Given the description of an element on the screen output the (x, y) to click on. 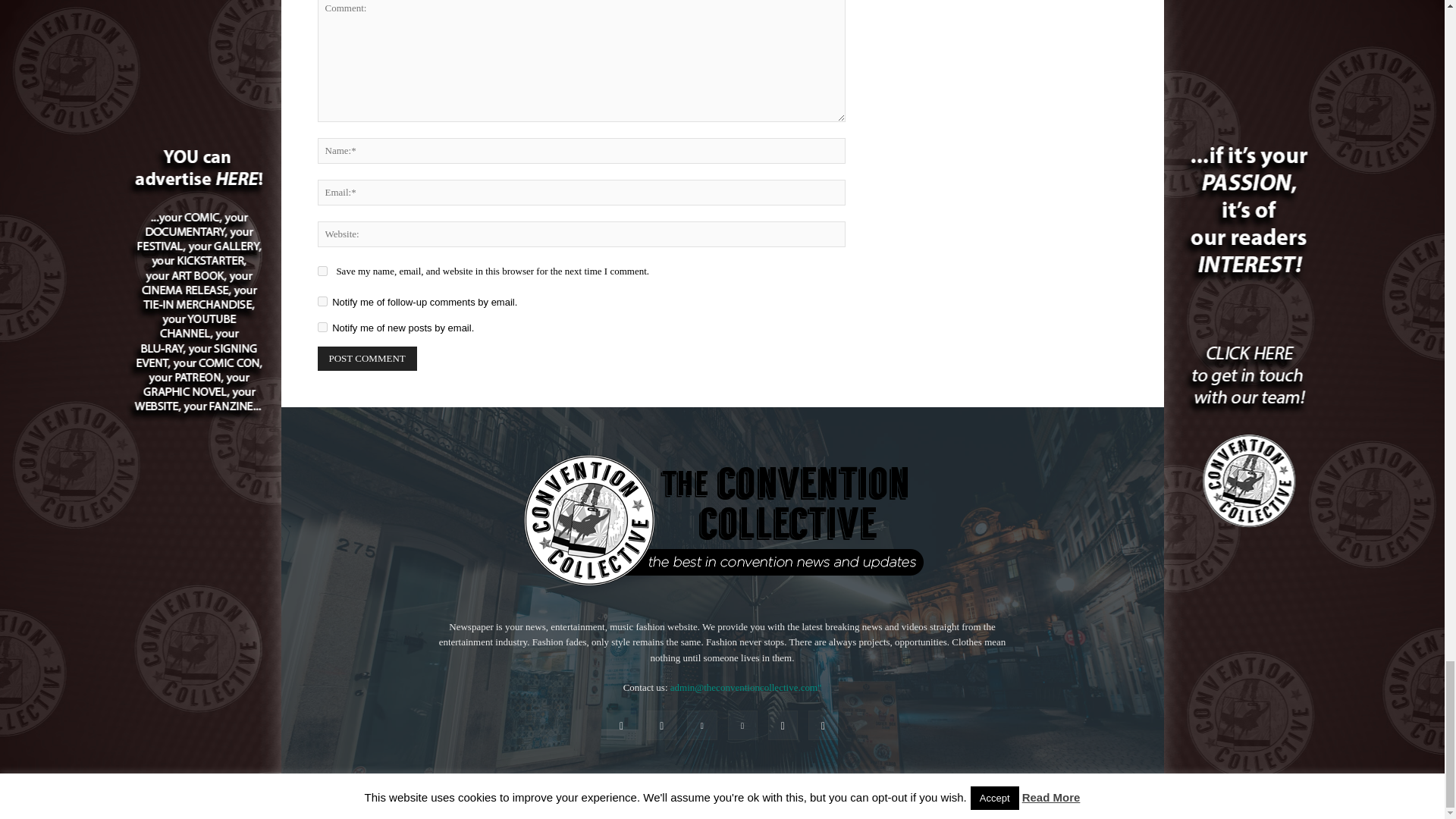
subscribe (321, 301)
Post Comment (366, 358)
yes (321, 271)
subscribe (321, 327)
